Given the description of an element on the screen output the (x, y) to click on. 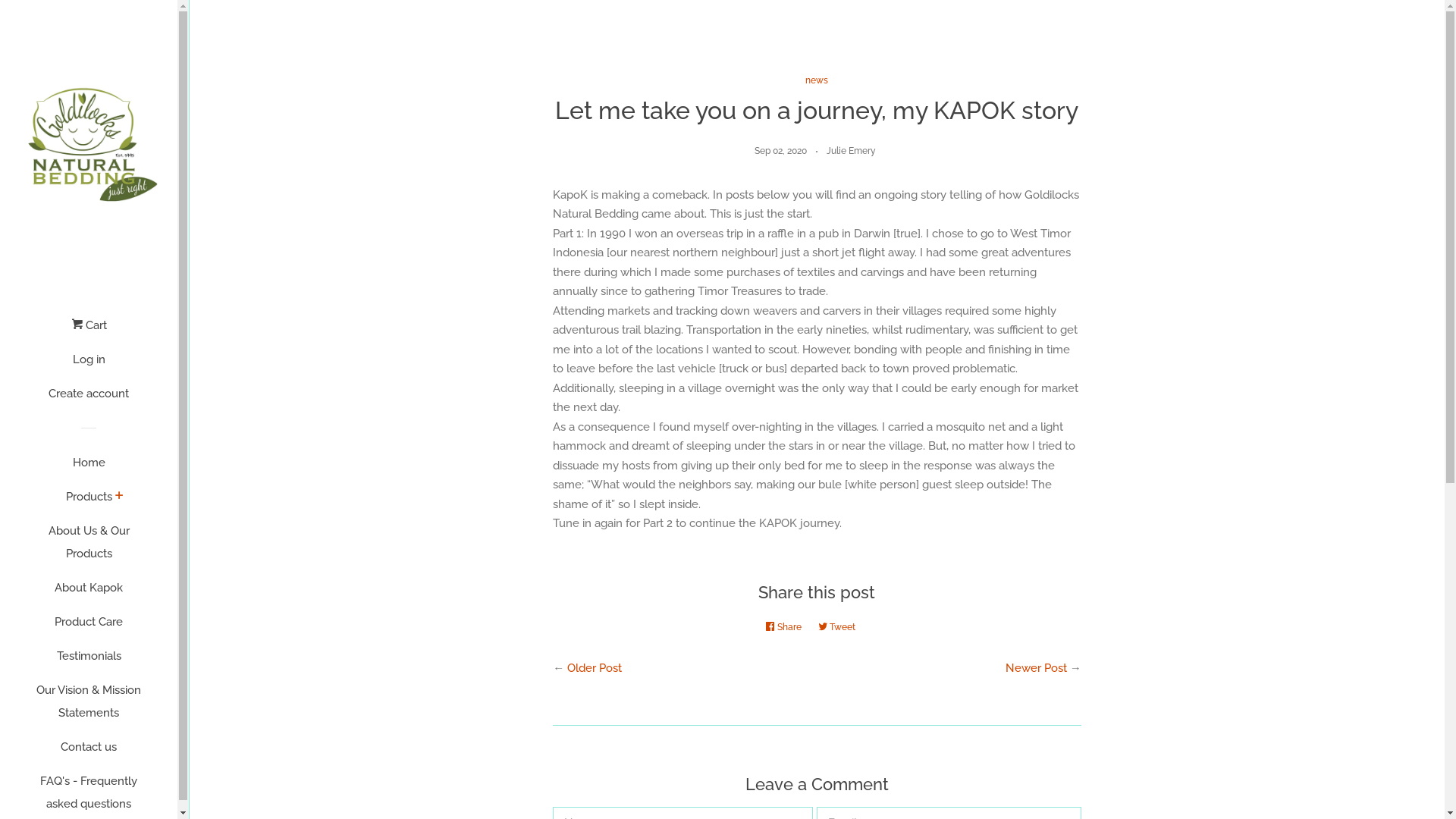
Home Element type: text (88, 468)
Log in Element type: text (88, 365)
news Element type: text (816, 80)
Products Element type: text (88, 502)
About Kapok Element type: text (88, 593)
Contact us Element type: text (88, 752)
Testimonials Element type: text (88, 661)
Product Care Element type: text (88, 627)
About Us & Our Products Element type: text (88, 547)
Tweet
Tweet on Twitter Element type: text (840, 627)
Share
Share on Facebook Element type: text (787, 627)
Create account Element type: text (88, 399)
expand Element type: text (119, 496)
Older Post Element type: text (594, 667)
Our Vision & Mission Statements Element type: text (88, 706)
Newer Post Element type: text (1035, 667)
Cart Element type: text (88, 330)
